Given the description of an element on the screen output the (x, y) to click on. 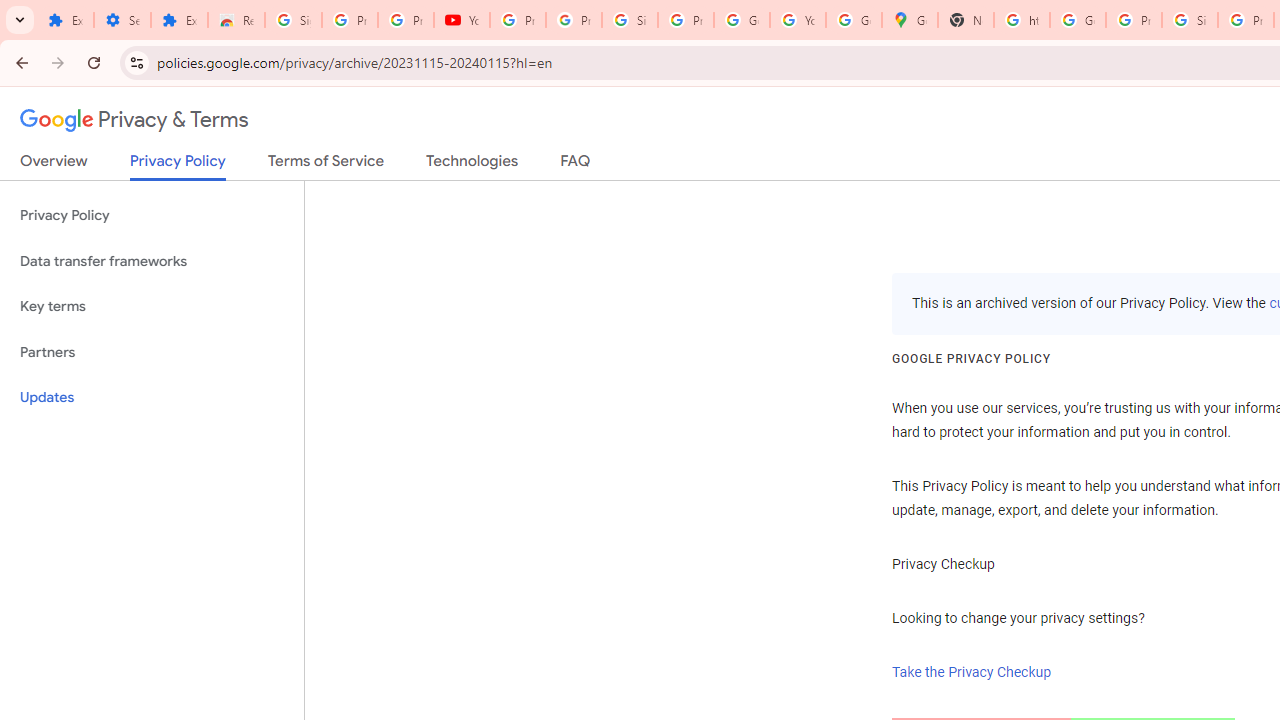
Take the Privacy Checkup (972, 672)
